Given the description of an element on the screen output the (x, y) to click on. 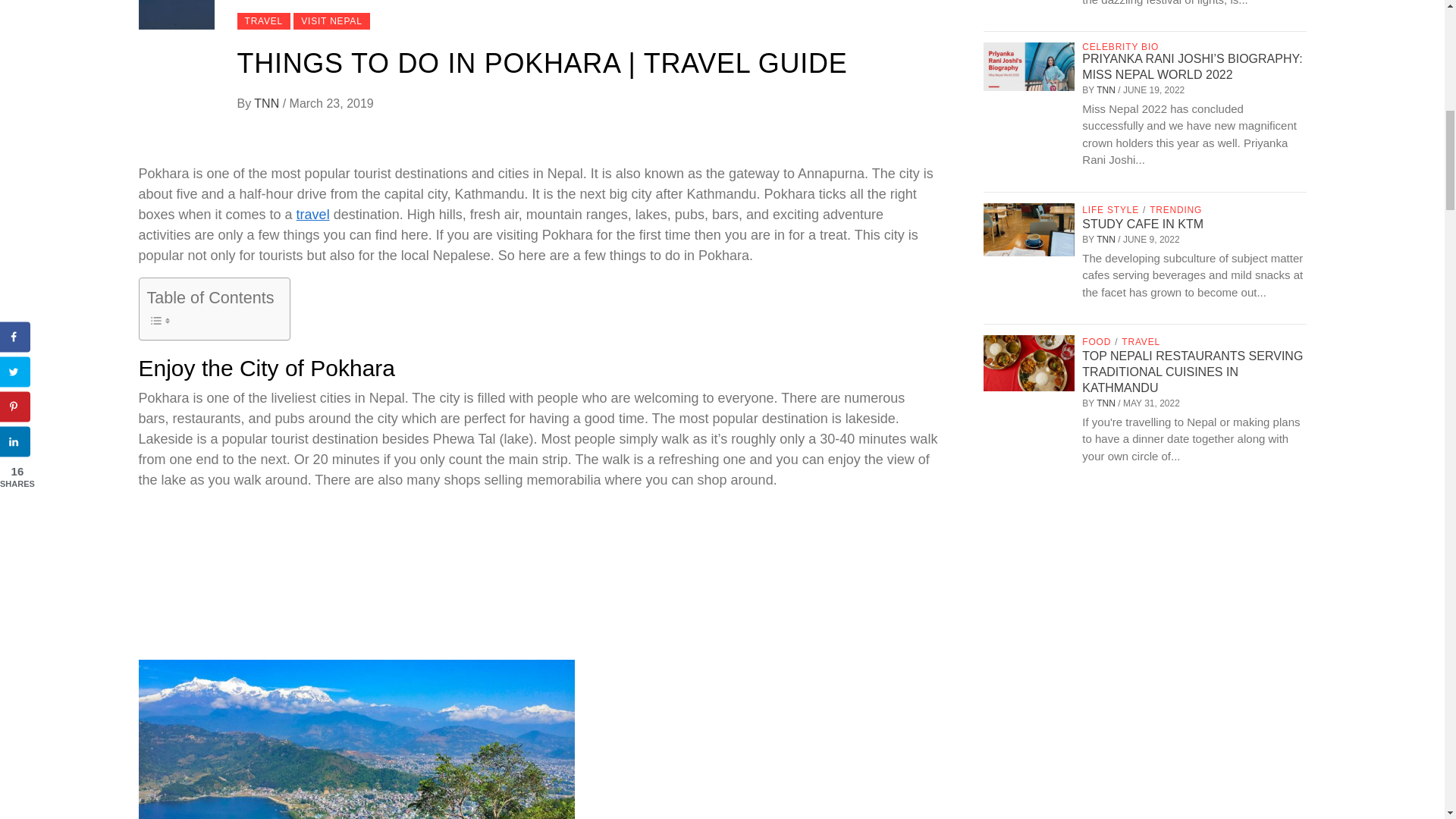
Advertisement (537, 577)
travel (313, 214)
TRAVEL (262, 21)
VISIT NEPAL (331, 21)
TNN (267, 103)
